Given the description of an element on the screen output the (x, y) to click on. 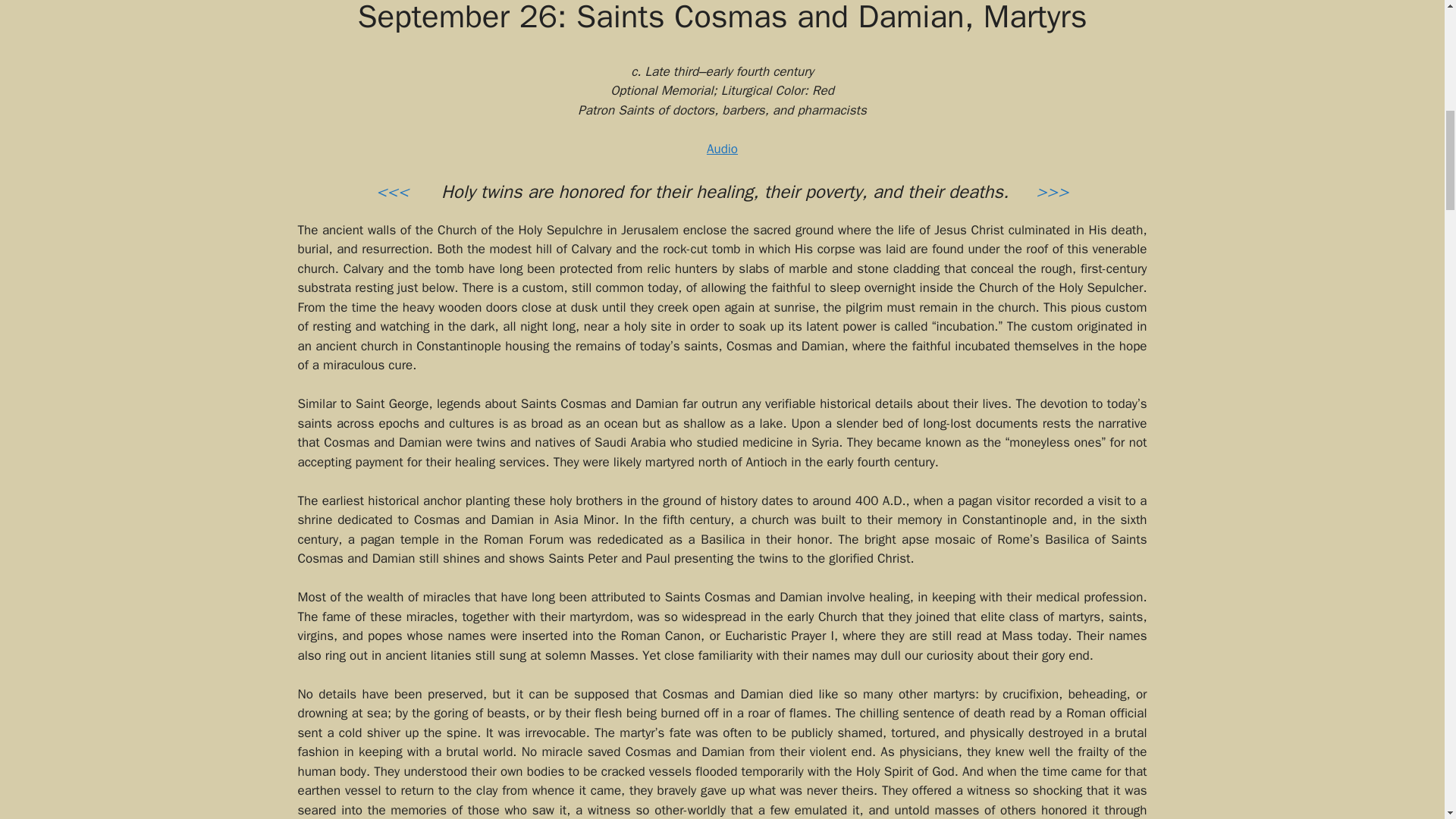
Scroll back to top (1406, 720)
Audio (722, 148)
